Given the description of an element on the screen output the (x, y) to click on. 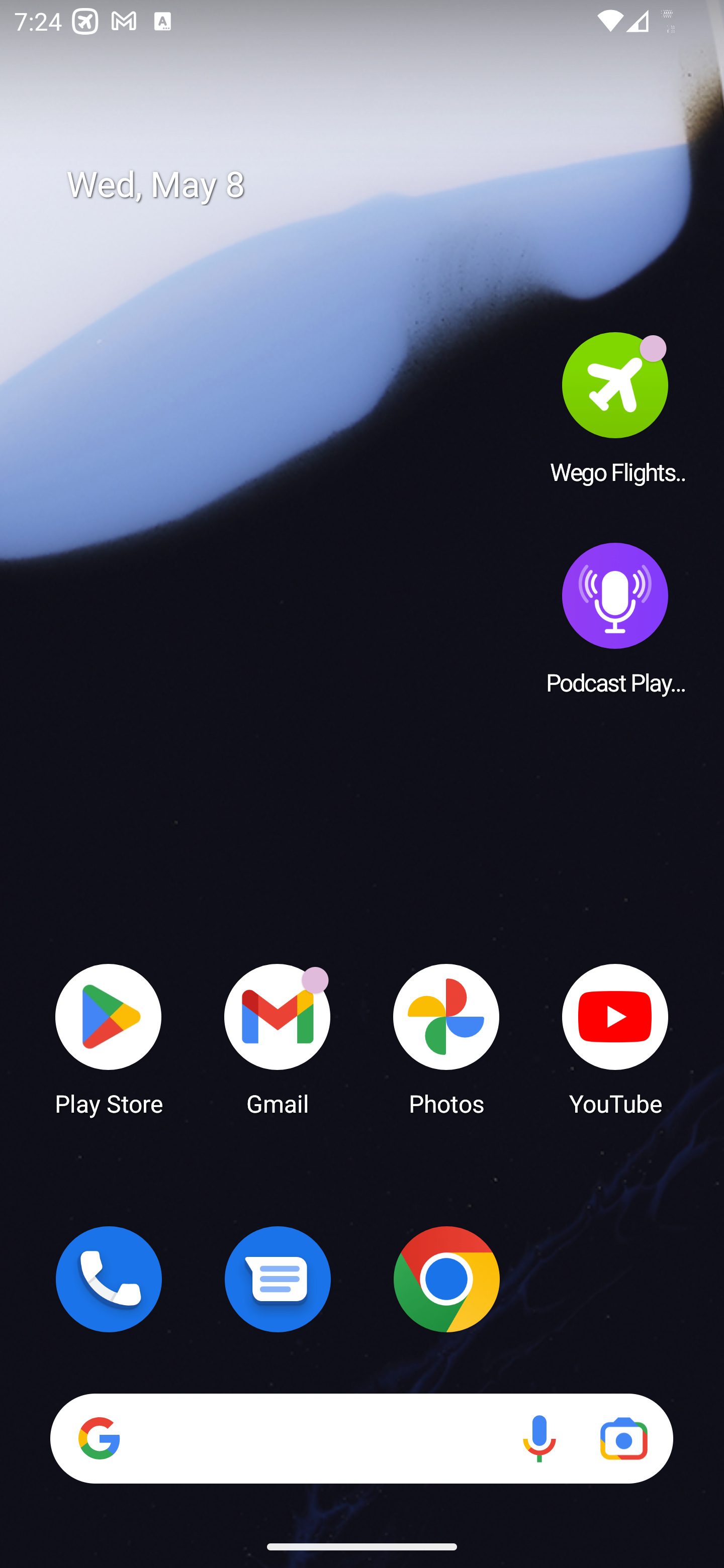
Wed, May 8 (375, 184)
Podcast Player (615, 617)
Play Store (108, 1038)
Gmail Gmail has 19 notifications (277, 1038)
Photos (445, 1038)
YouTube (615, 1038)
Phone (108, 1279)
Messages (277, 1279)
Chrome (446, 1279)
Voice search (539, 1438)
Google Lens (623, 1438)
